Given the description of an element on the screen output the (x, y) to click on. 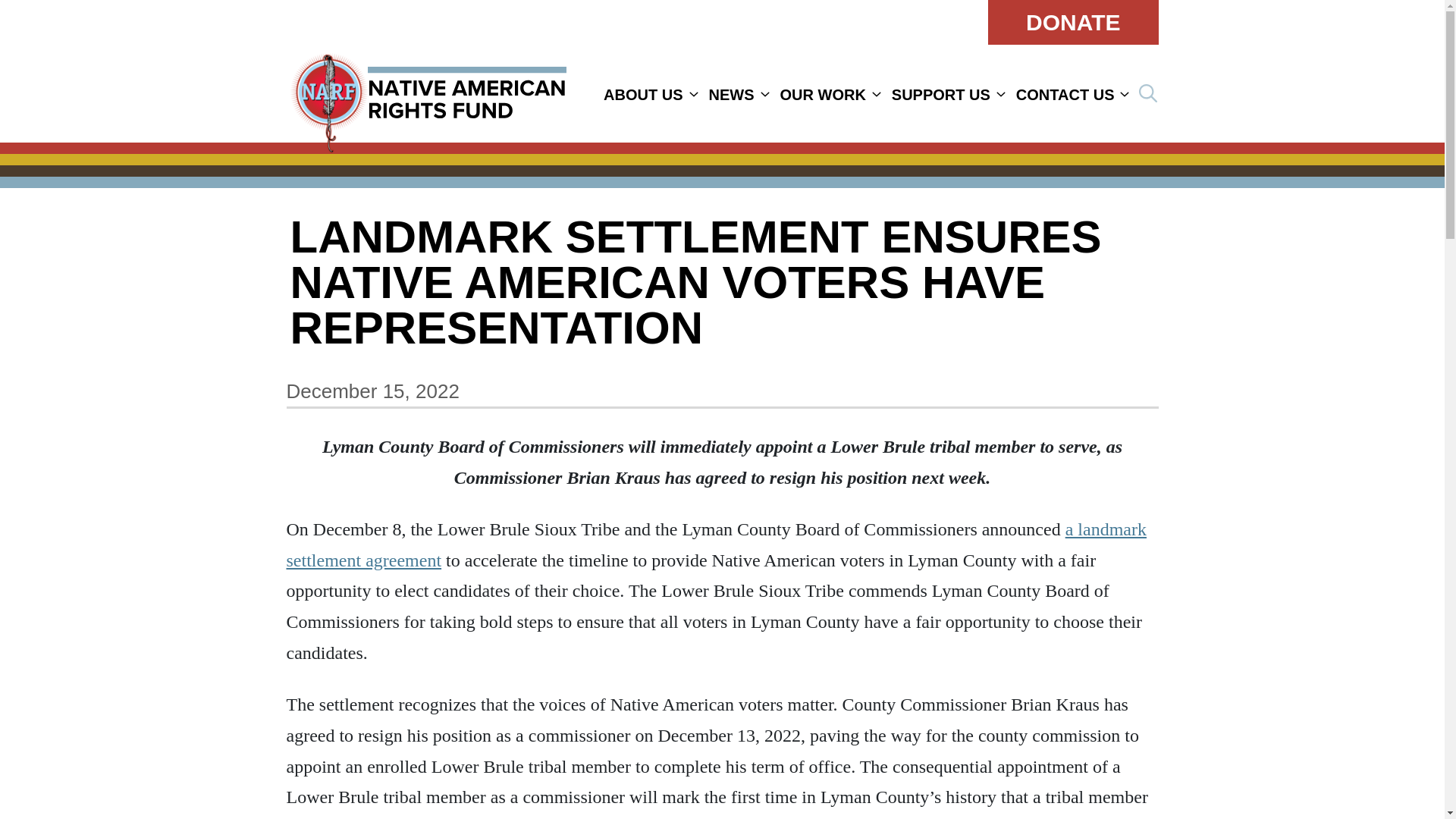
ABOUT US (643, 94)
NEWS (730, 94)
DONATE (1072, 22)
Native American Rights Fund (427, 93)
